Given the description of an element on the screen output the (x, y) to click on. 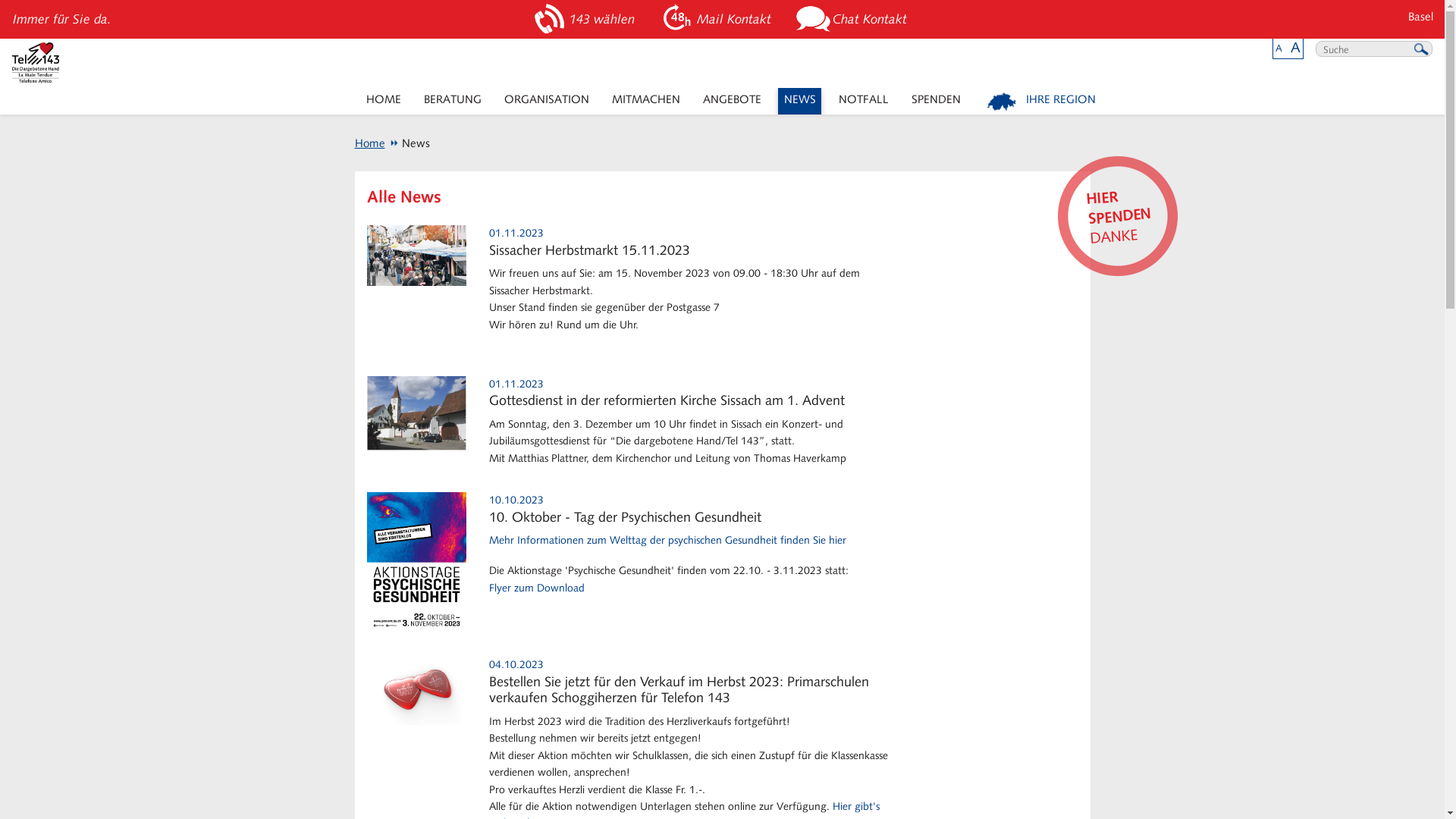
SPENDEN Element type: text (935, 100)
HIER SPENDEN DANKE Element type: text (1113, 212)
ANGEBOTE Element type: text (731, 100)
HOME Element type: text (383, 100)
Mail Kontakt Element type: text (717, 19)
A Element type: text (1278, 47)
MITMACHEN Element type: text (645, 100)
BERATUNG Element type: text (451, 100)
A Element type: text (1295, 47)
Flyer zum Download Element type: text (536, 587)
ORGANISATION Element type: text (546, 100)
IHRE REGION Element type: text (1041, 100)
NEWS Element type: text (799, 100)
Chat Kontakt Element type: text (853, 19)
NOTFALL Element type: text (863, 100)
News Element type: text (408, 143)
Home Element type: text (369, 143)
